Given the description of an element on the screen output the (x, y) to click on. 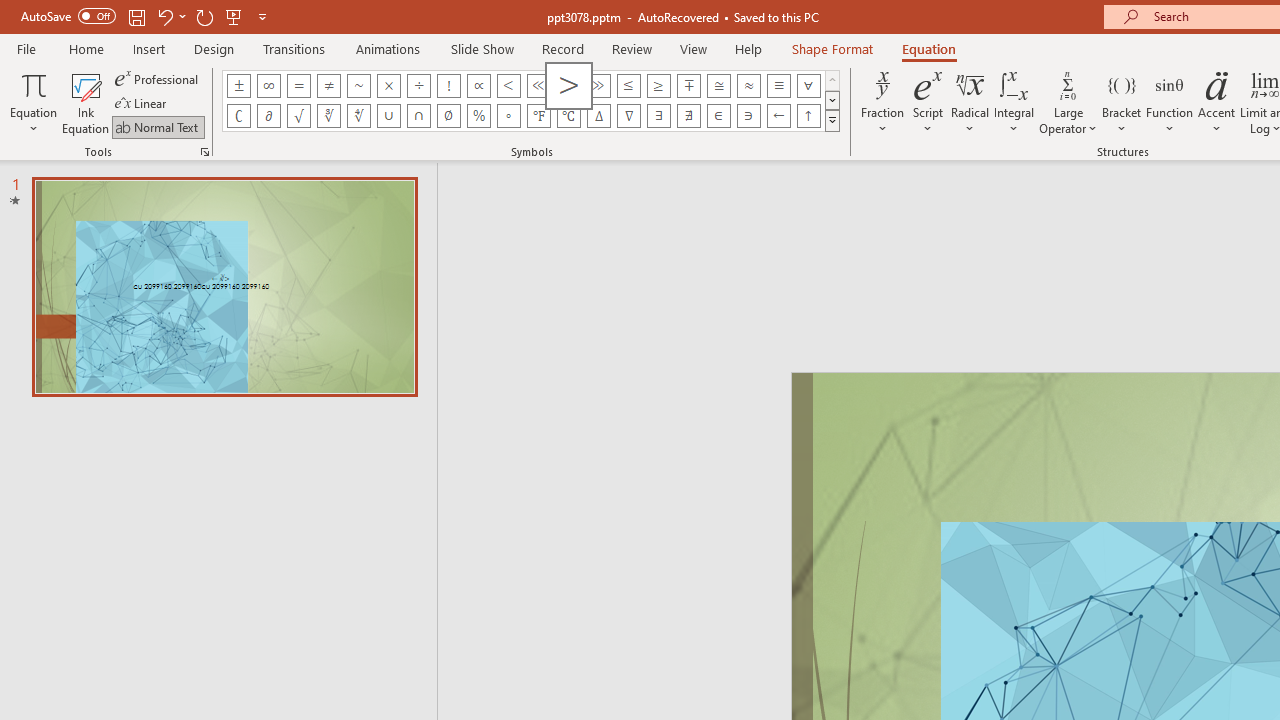
Equation Symbols (832, 120)
Equation Symbol Equal (298, 85)
Equation Symbol There Does Not Exist (689, 115)
Equation Options... (204, 151)
Equation Symbol Plus Minus (238, 85)
Equation Symbol Much Less Than (538, 85)
Equation Symbol Greater Than (568, 85)
Script (927, 102)
